Given the description of an element on the screen output the (x, y) to click on. 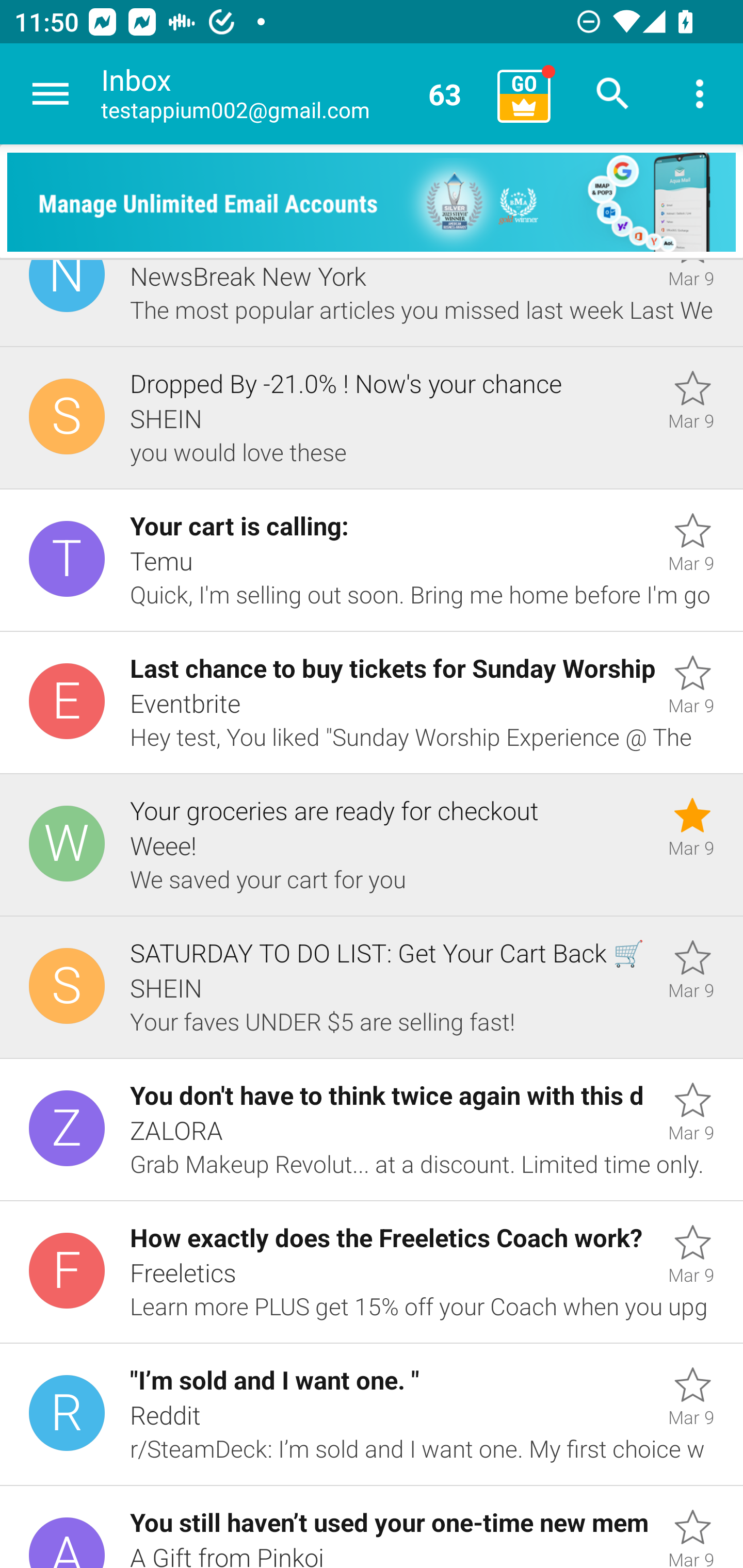
Navigate up (50, 93)
Inbox testappium002@gmail.com 63 (291, 93)
Search (612, 93)
More options (699, 93)
